Given the description of an element on the screen output the (x, y) to click on. 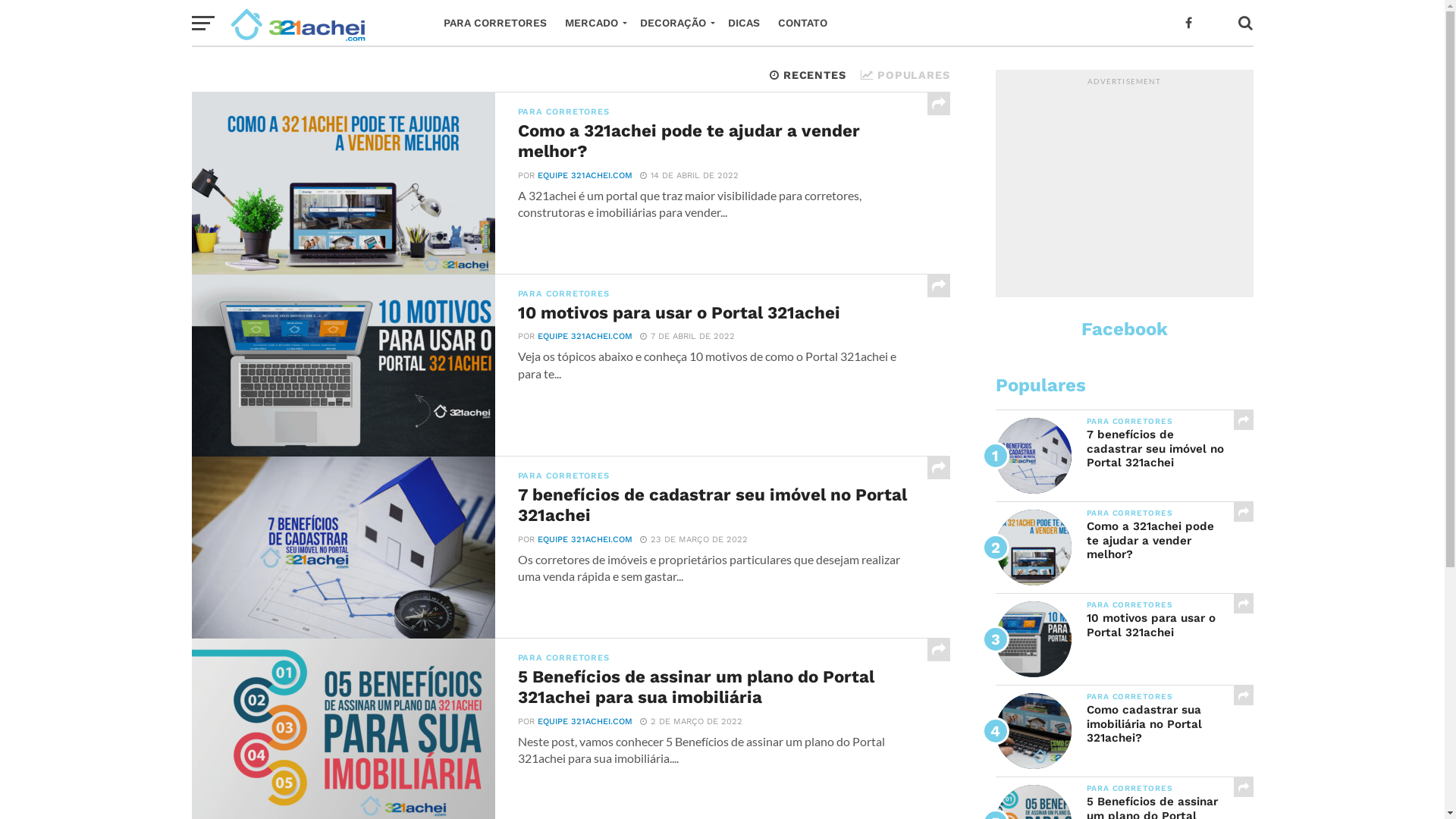
CONTATO Element type: text (802, 22)
POPULARES Element type: text (904, 75)
EQUIPE 321ACHEI.COM Element type: text (583, 175)
EQUIPE 321ACHEI.COM Element type: text (583, 539)
MERCADO Element type: text (592, 22)
EQUIPE 321ACHEI.COM Element type: text (583, 721)
RECENTES Element type: text (807, 75)
EQUIPE 321ACHEI.COM Element type: text (583, 336)
Advertisement Element type: hover (1123, 187)
DICAS Element type: text (743, 22)
PARA CORRETORES Element type: text (494, 22)
